Given the description of an element on the screen output the (x, y) to click on. 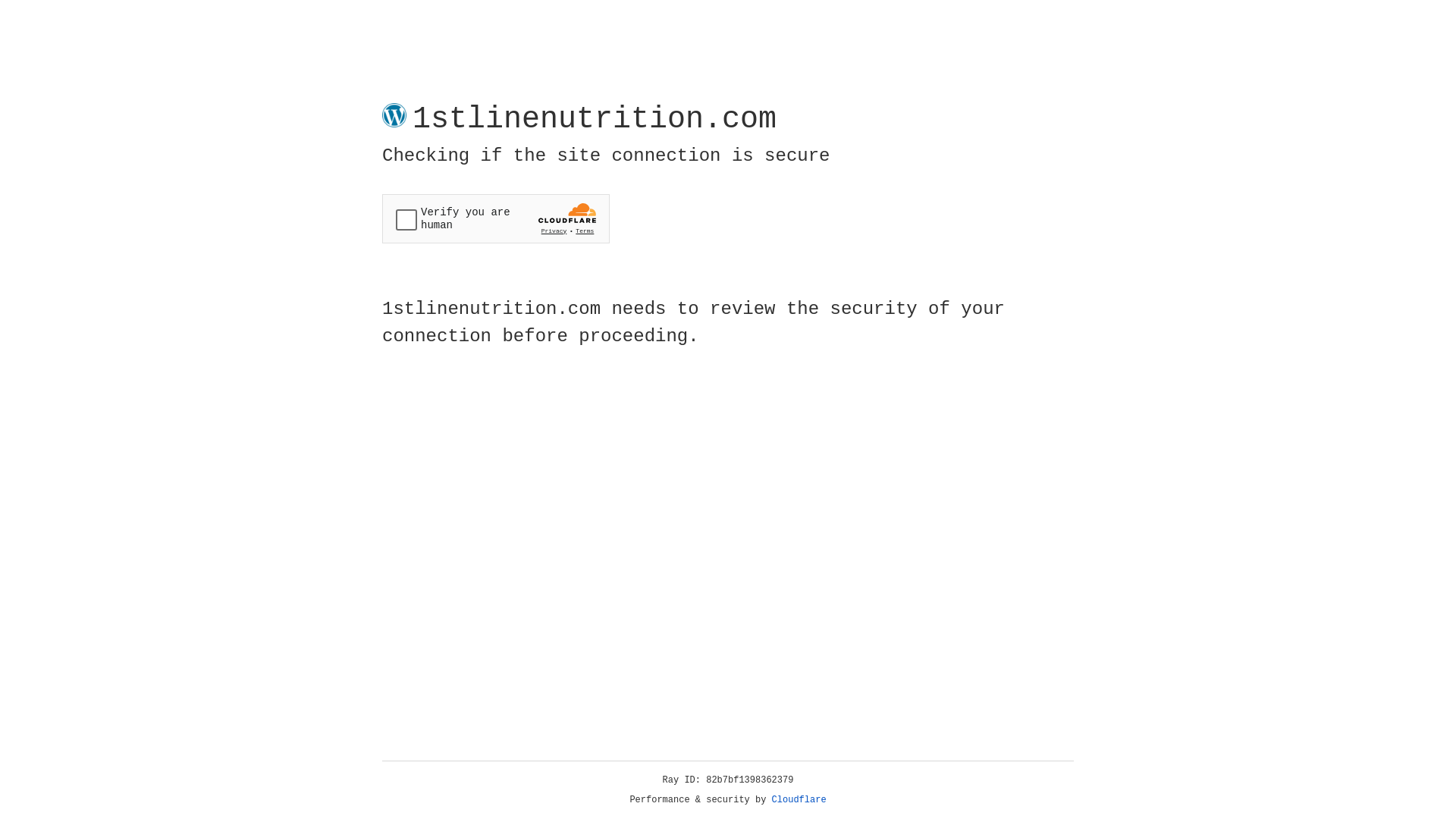
Cloudflare Element type: text (798, 799)
Widget containing a Cloudflare security challenge Element type: hover (495, 218)
